Given the description of an element on the screen output the (x, y) to click on. 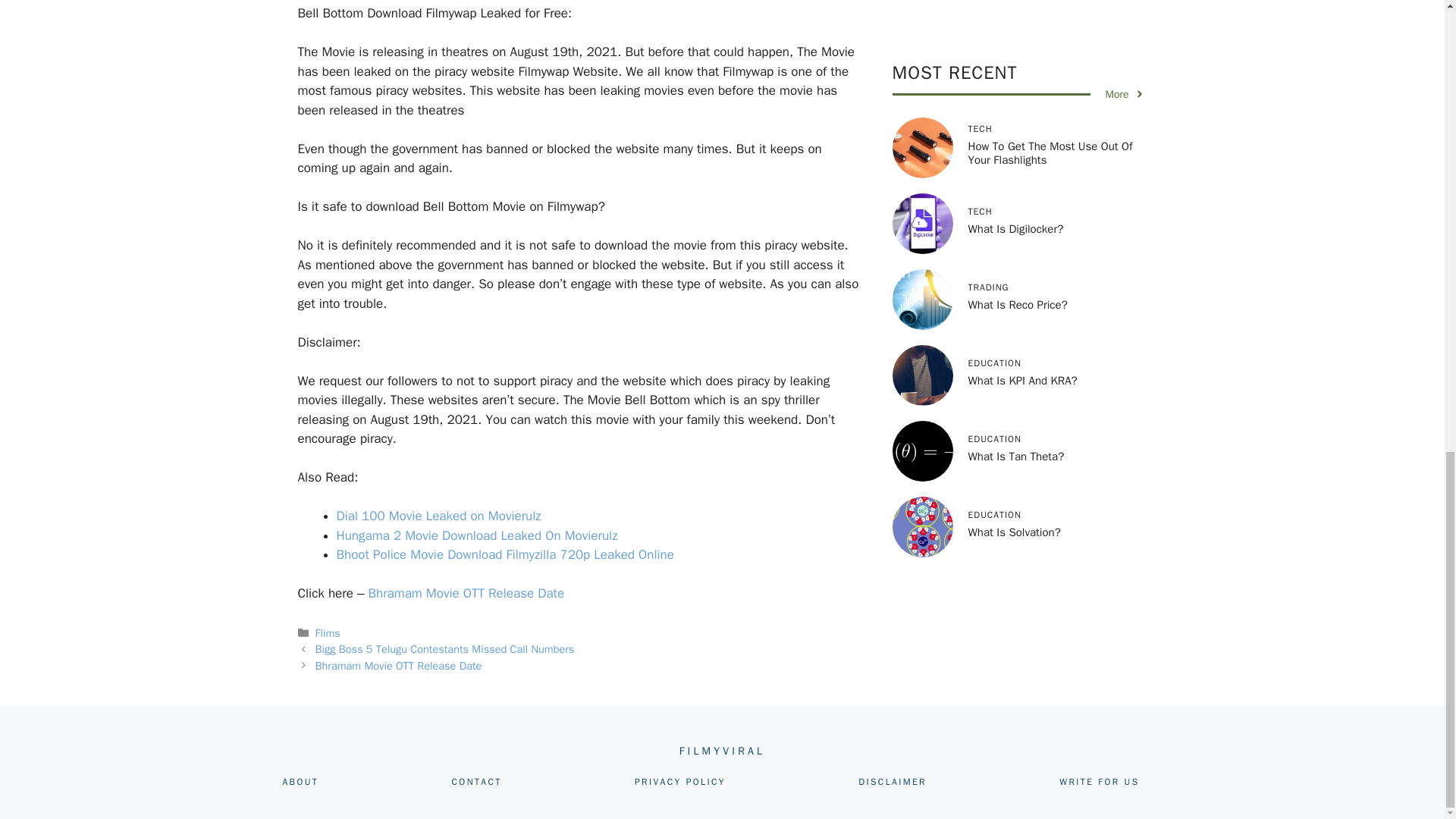
Bhoot Police Movie Download Filmyzilla 720p Leaked Online  (507, 554)
Hungama 2 Movie Download Leaked On Movierulz (476, 535)
Bigg Boss 5 Telugu Contestants Missed Call Numbers (445, 649)
Dial 100 Movie Leaked on Movierulz (438, 515)
Bhramam Movie OTT Release Date (466, 593)
Bhramam Movie OTT Release Date (398, 665)
Flims (327, 632)
